Given the description of an element on the screen output the (x, y) to click on. 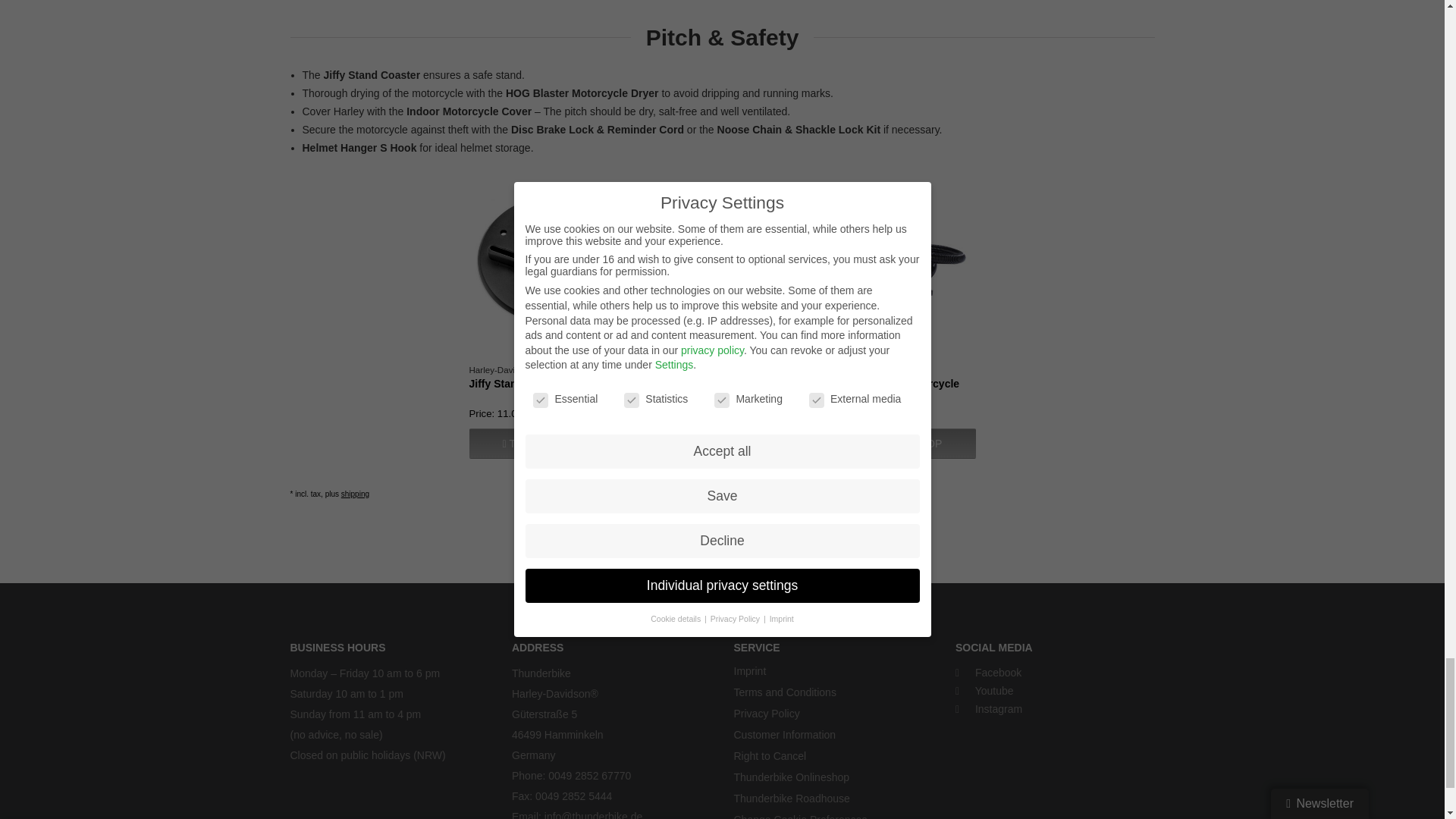
youtube (1054, 690)
instagram (1054, 709)
facebook (1054, 672)
